Given the description of an element on the screen output the (x, y) to click on. 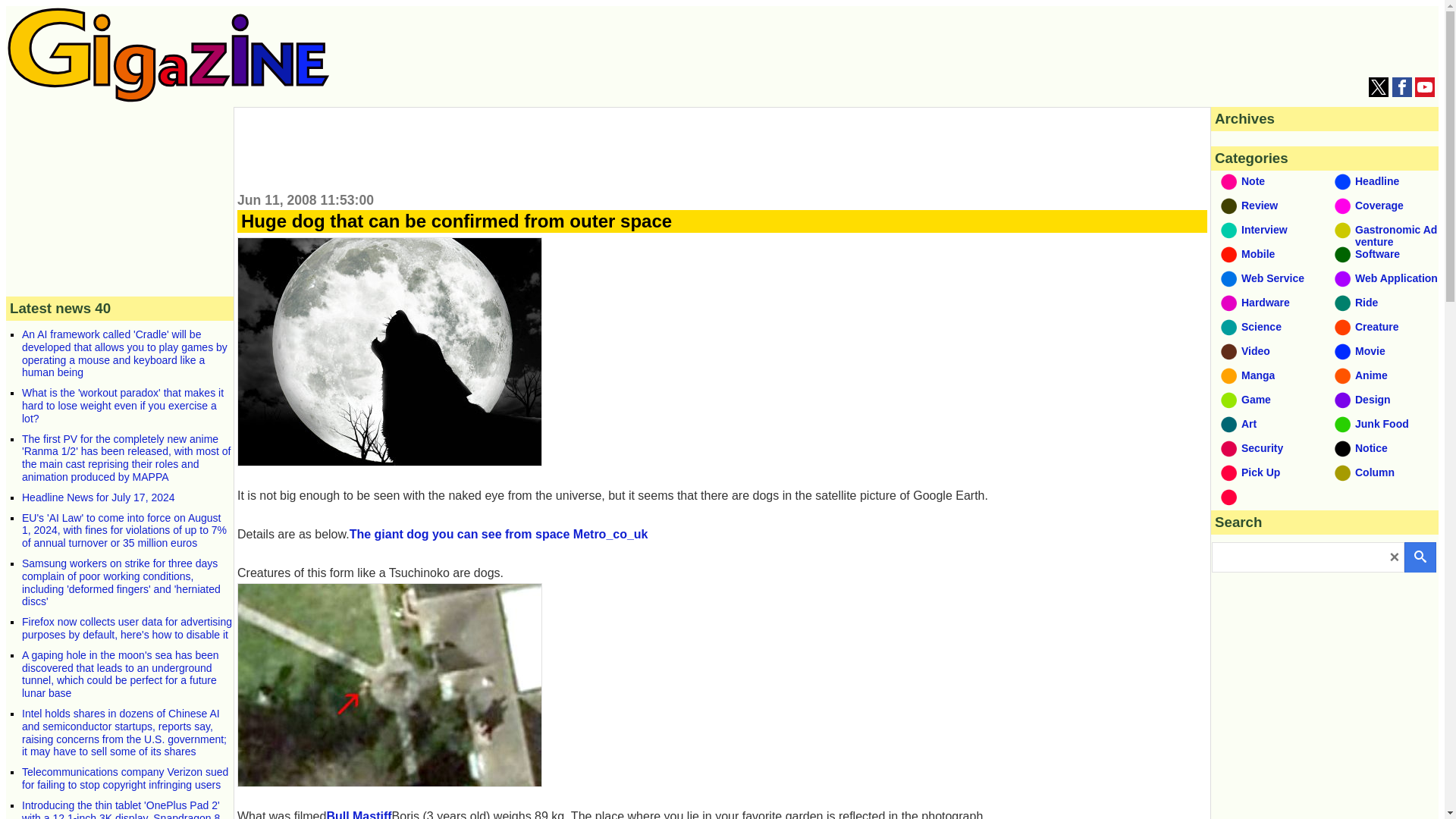
GIGAZINE (168, 54)
Headline News for July 17, 2024 (97, 497)
Bull Mastiff (358, 814)
GIGAZINE (168, 97)
